Given the description of an element on the screen output the (x, y) to click on. 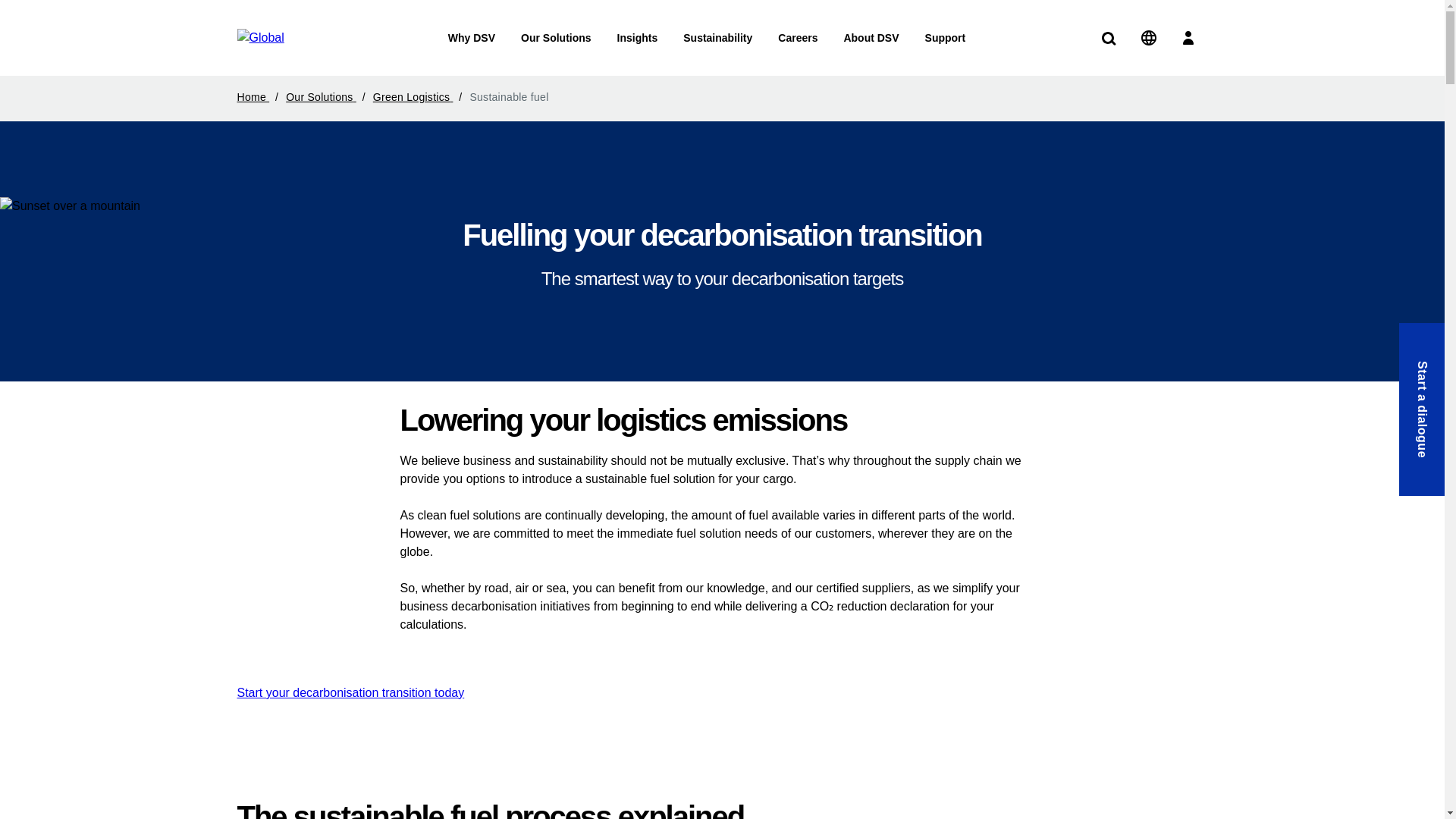
Our Solutions (556, 38)
Home (259, 97)
Our Solutions (328, 97)
Green Logistics (420, 97)
Sustainability (717, 38)
Why DSV (471, 38)
